Given the description of an element on the screen output the (x, y) to click on. 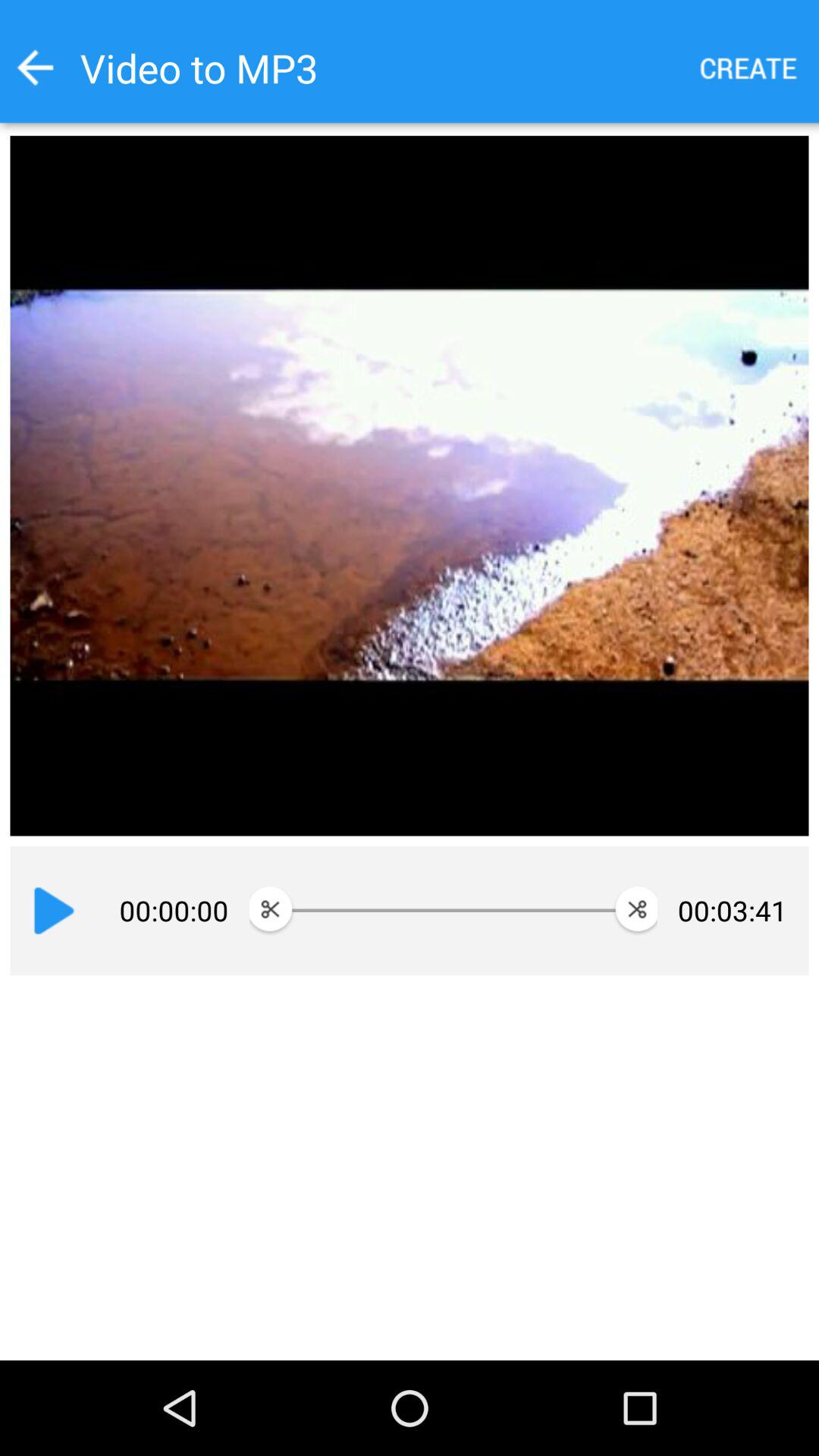
click the item to the left of video to mp3 app (35, 67)
